Given the description of an element on the screen output the (x, y) to click on. 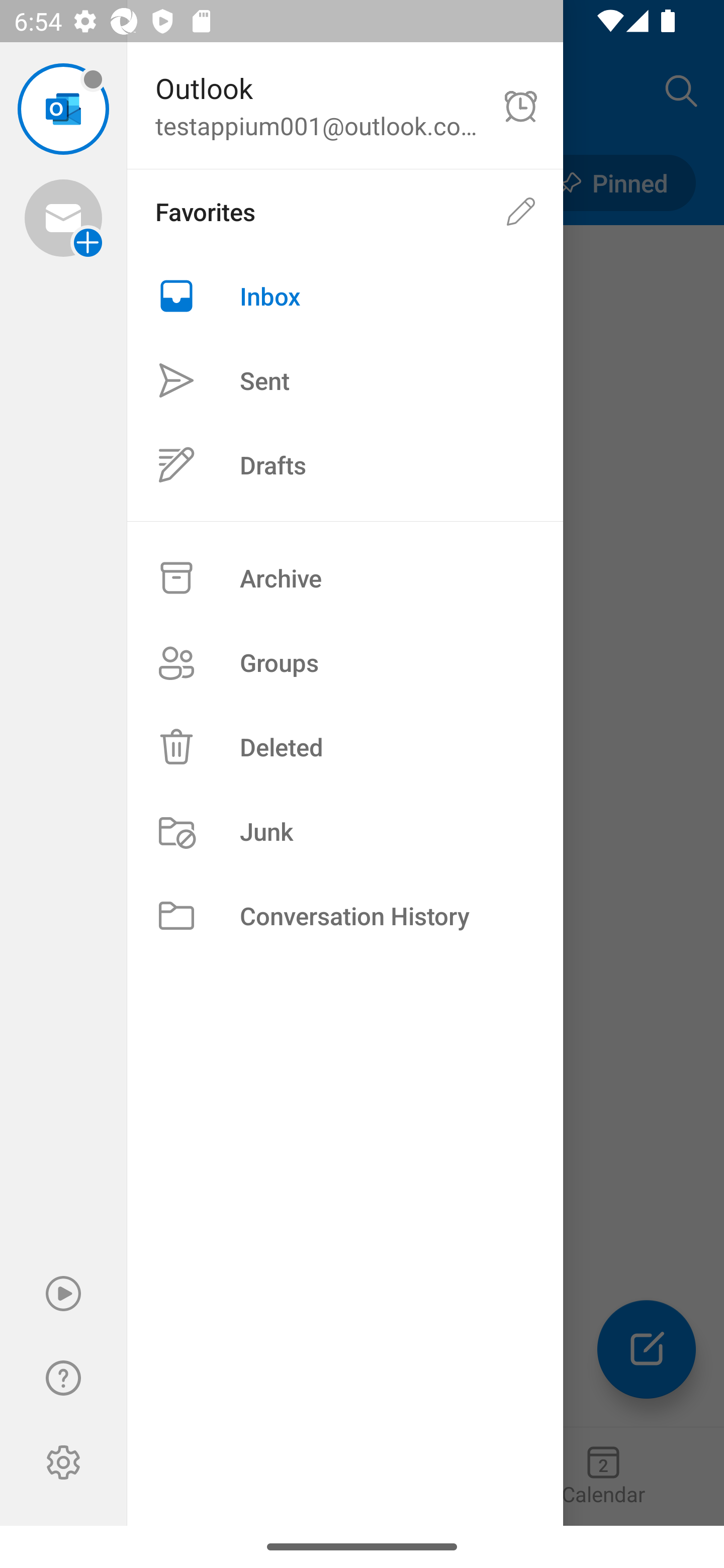
Do not disturb off (520, 105)
testappium001@outlook.com (63, 108)
Edit favorites (520, 211)
Add account (63, 217)
Inbox (345, 296)
Sent (345, 380)
Drafts (345, 464)
Archive (345, 578)
Groups (345, 662)
Deleted (345, 746)
Junk (345, 830)
Conversation History (345, 915)
Play My Emails (62, 1293)
Help (62, 1377)
Settings (62, 1462)
